Given the description of an element on the screen output the (x, y) to click on. 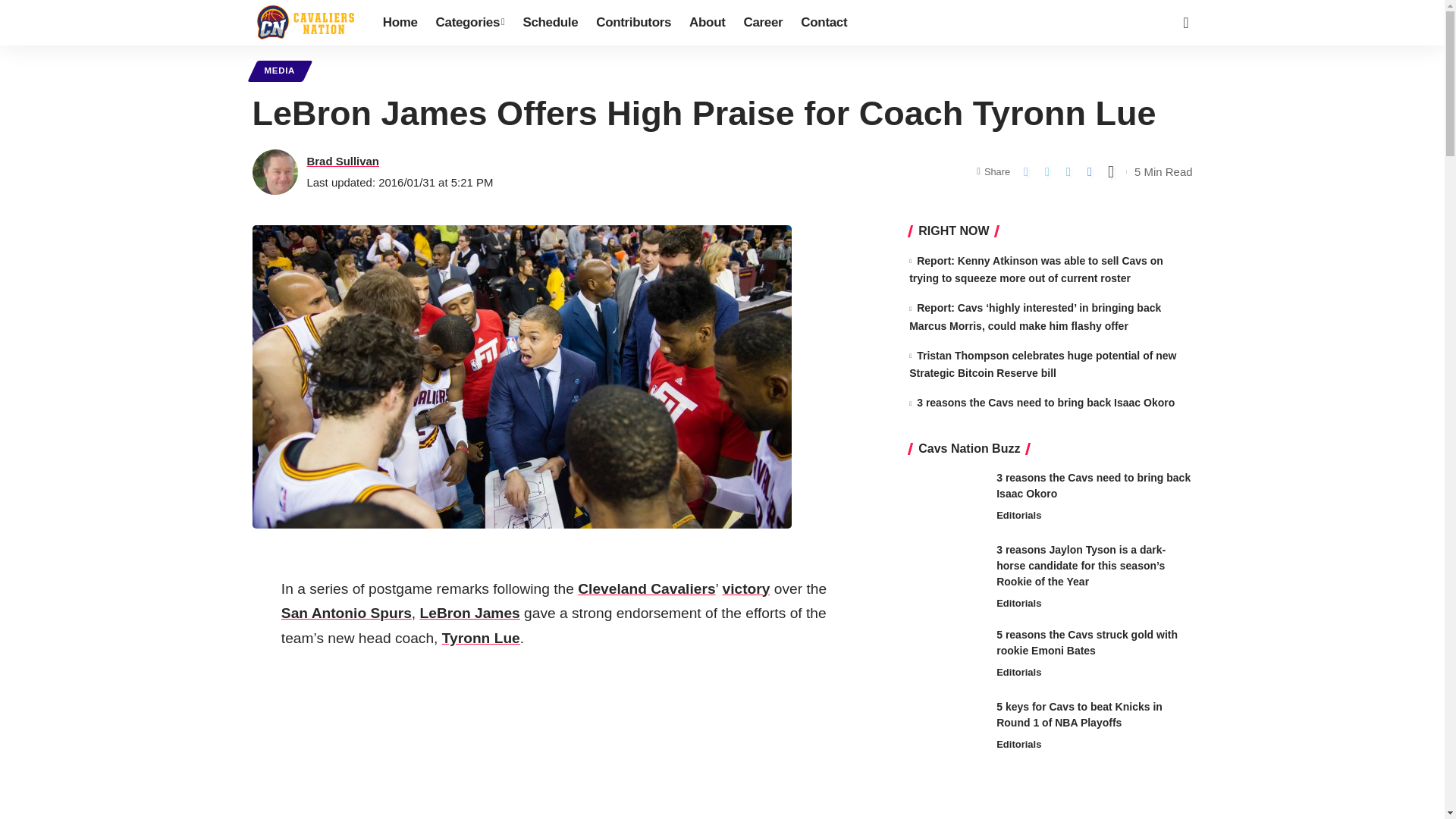
Brad Sullivan (341, 160)
Home (400, 22)
victory (746, 588)
Schedule (549, 22)
About (706, 22)
Categories (469, 22)
Cavaliers Nation (304, 22)
3 reasons the Cavs need to bring back Isaac Okoro (946, 498)
5 reasons the Cavs struck gold with rookie Emoni Bates (946, 655)
San Antonio Spurs (346, 612)
